Given the description of an element on the screen output the (x, y) to click on. 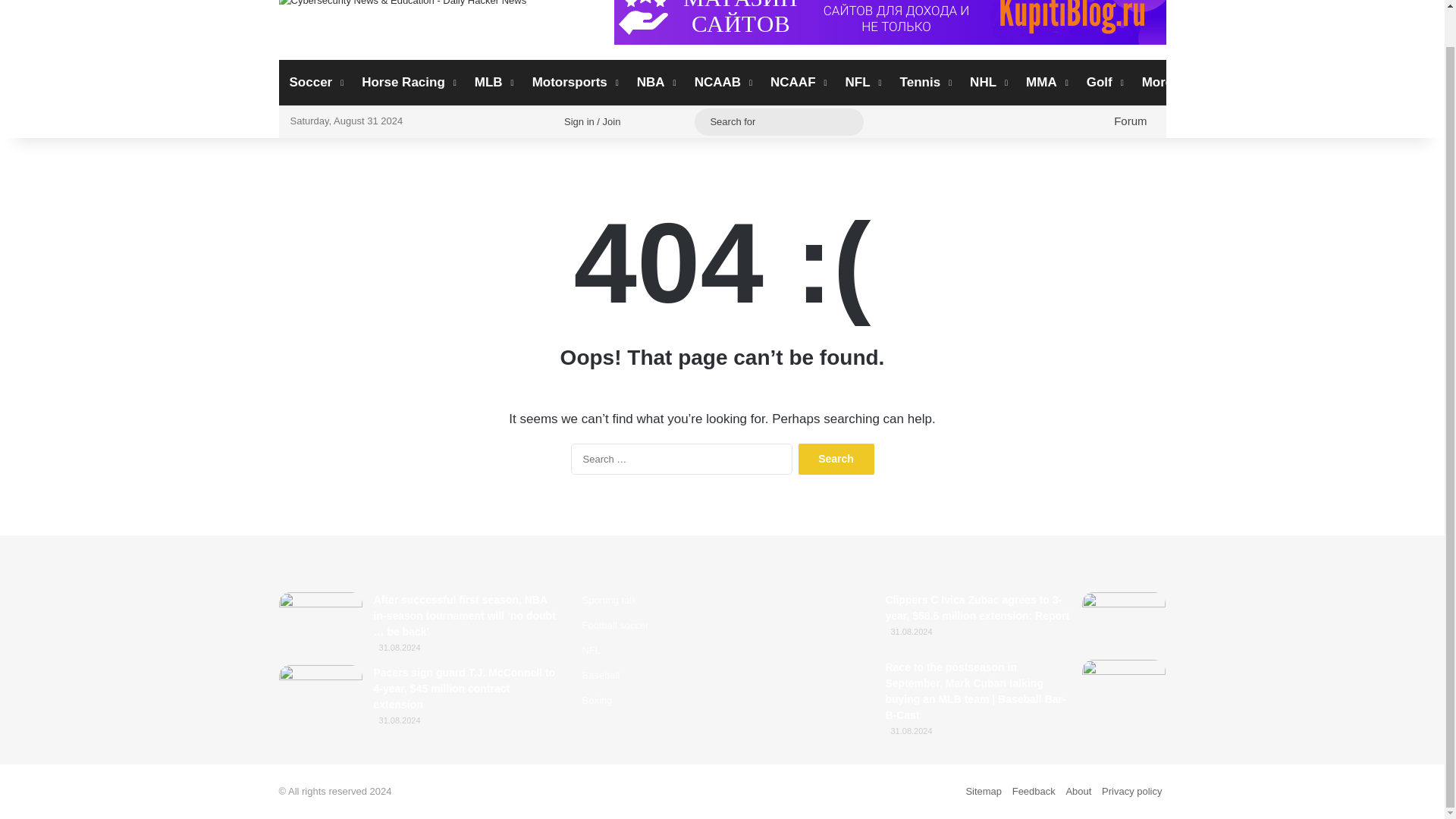
Motorsports (573, 82)
MLB (492, 82)
Search (835, 459)
Horse Racing (407, 82)
Search for (778, 121)
NBA (655, 82)
Soccer (315, 82)
Search (835, 459)
